Given the description of an element on the screen output the (x, y) to click on. 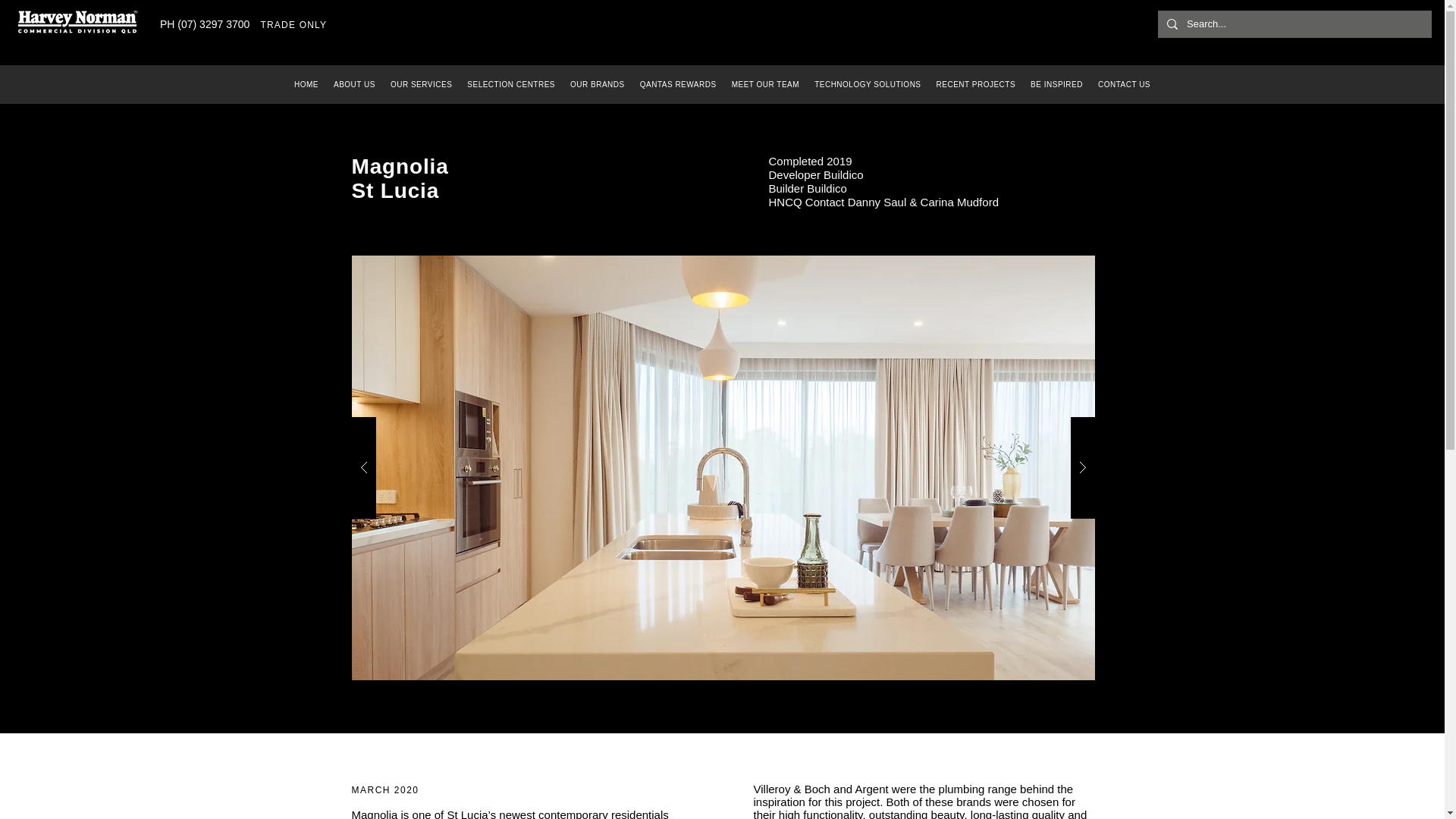
SELECTION CENTRES (511, 83)
BE INSPIRED (1056, 83)
MEET OUR TEAM (764, 83)
OUR BRANDS (596, 83)
HOME (306, 83)
TECHNOLOGY SOLUTIONS (867, 83)
ABOUT US (354, 83)
RECENT PROJECTS (975, 83)
CONTACT US (1123, 83)
OUR SERVICES (421, 83)
